Given the description of an element on the screen output the (x, y) to click on. 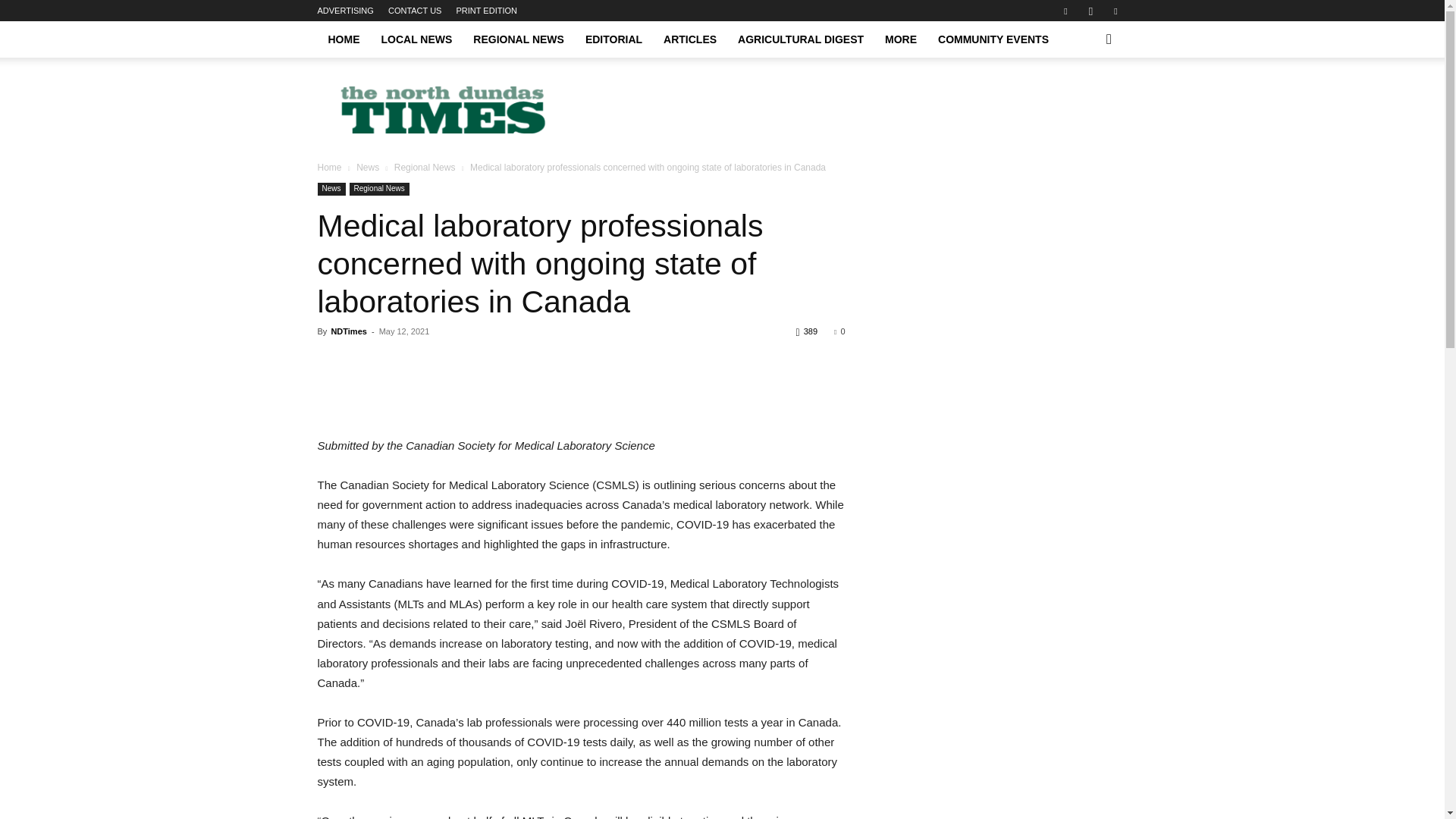
EDITORIAL (613, 39)
REGIONAL NEWS (519, 39)
Facebook (1065, 10)
HOME (343, 39)
View all posts in News (367, 167)
ARTICLES (689, 39)
View all posts in Regional News (424, 167)
ADVERTISING (344, 10)
CONTACT US (415, 10)
LOCAL NEWS (416, 39)
Twitter (1114, 10)
PRINT EDITION (486, 10)
topFacebookLike (430, 358)
Instagram (1090, 10)
